Given the description of an element on the screen output the (x, y) to click on. 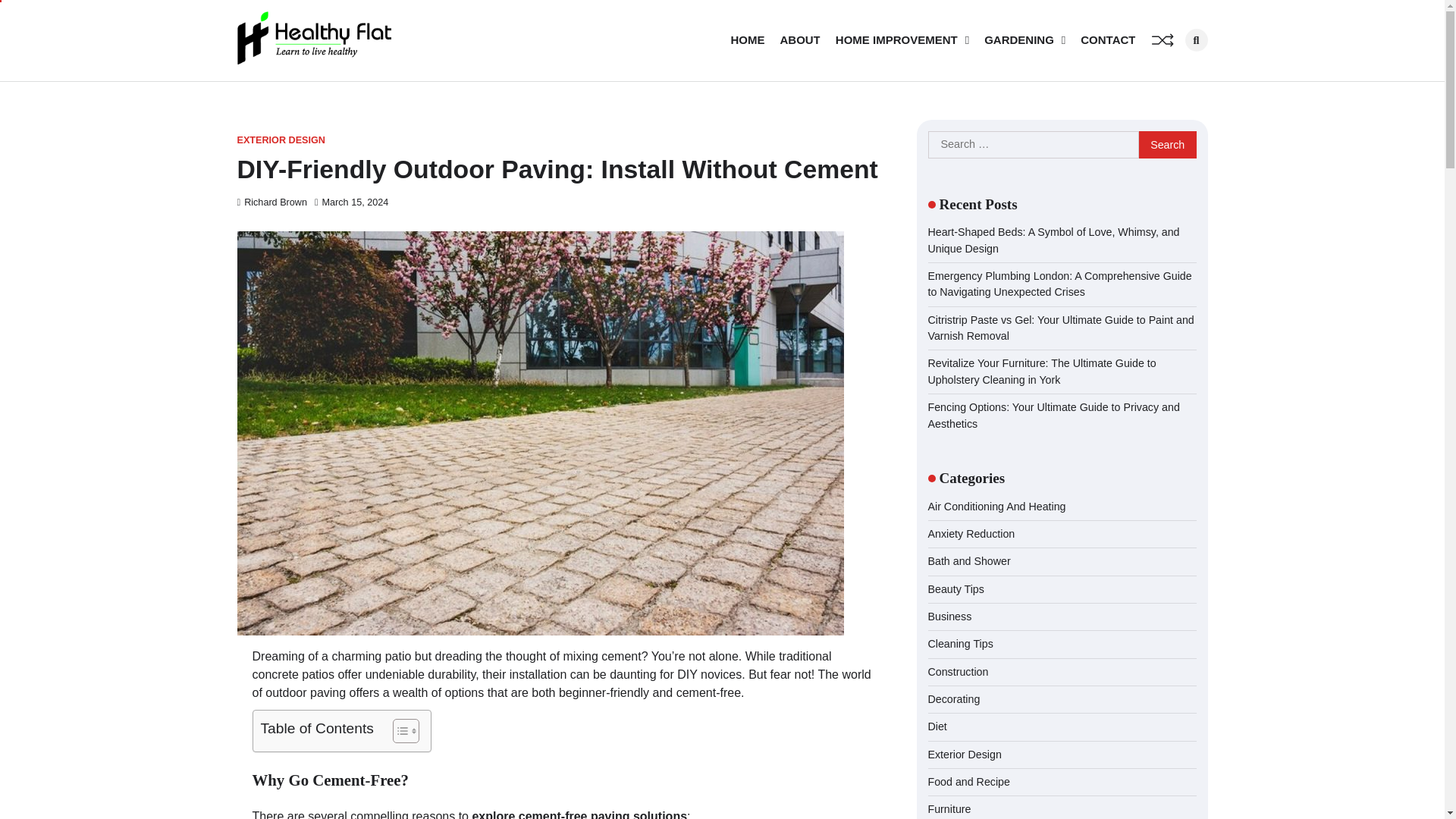
March 15, 2024 (351, 202)
CONTACT (1107, 40)
GARDENING (1024, 40)
Search (1167, 144)
Richard Brown (270, 202)
Search (1170, 72)
HOME (747, 40)
Search (1167, 144)
EXTERIOR DESIGN (279, 140)
HOME IMPROVEMENT (902, 40)
Search (1196, 39)
ABOUT (798, 40)
Search (1167, 144)
